Given the description of an element on the screen output the (x, y) to click on. 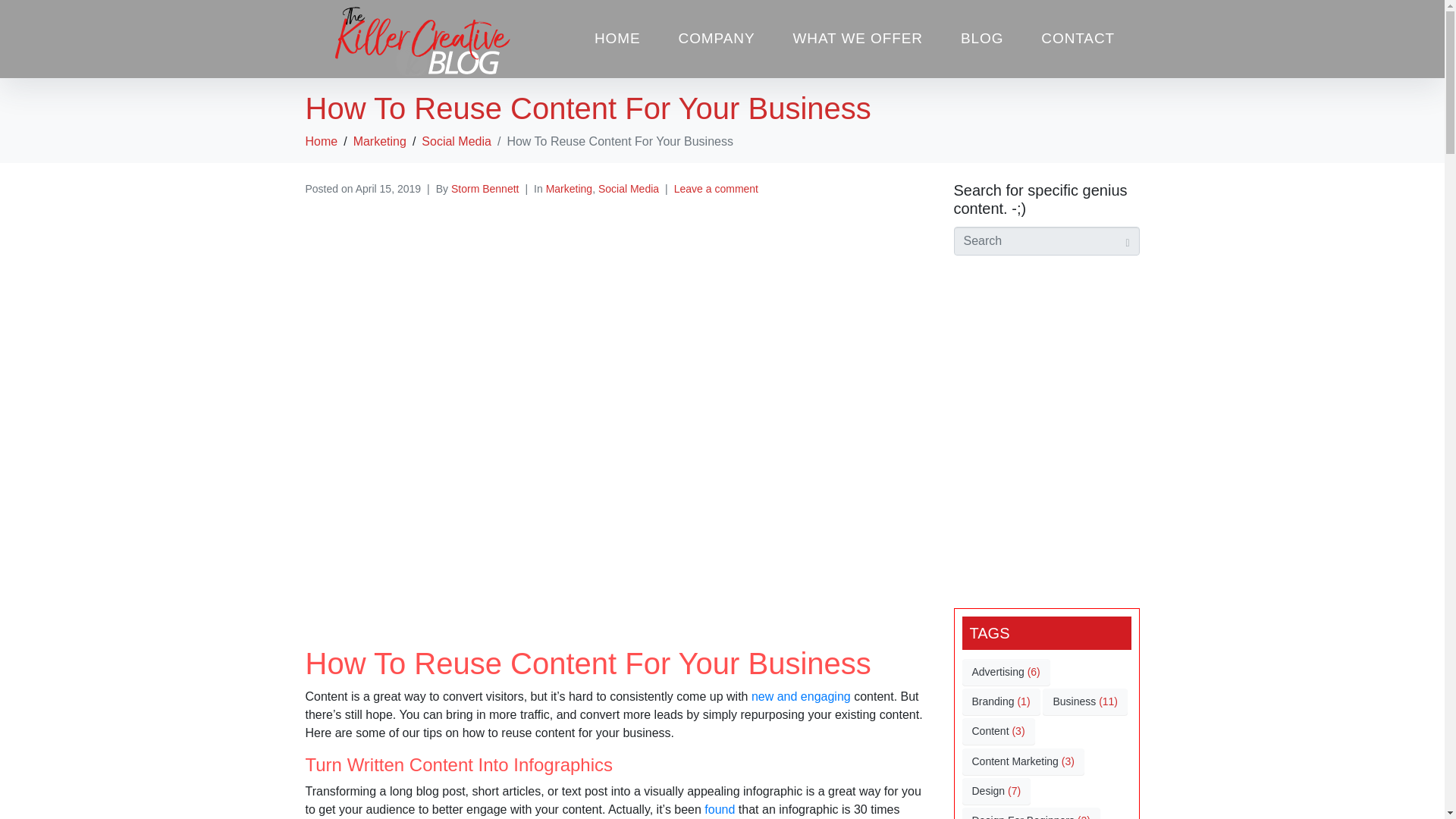
COMPANY (716, 38)
Marketing (379, 141)
Home (320, 141)
CONTACT (1077, 38)
WHAT WE OFFER (857, 38)
Social Media (457, 141)
Storm Bennett (485, 188)
